Given the description of an element on the screen output the (x, y) to click on. 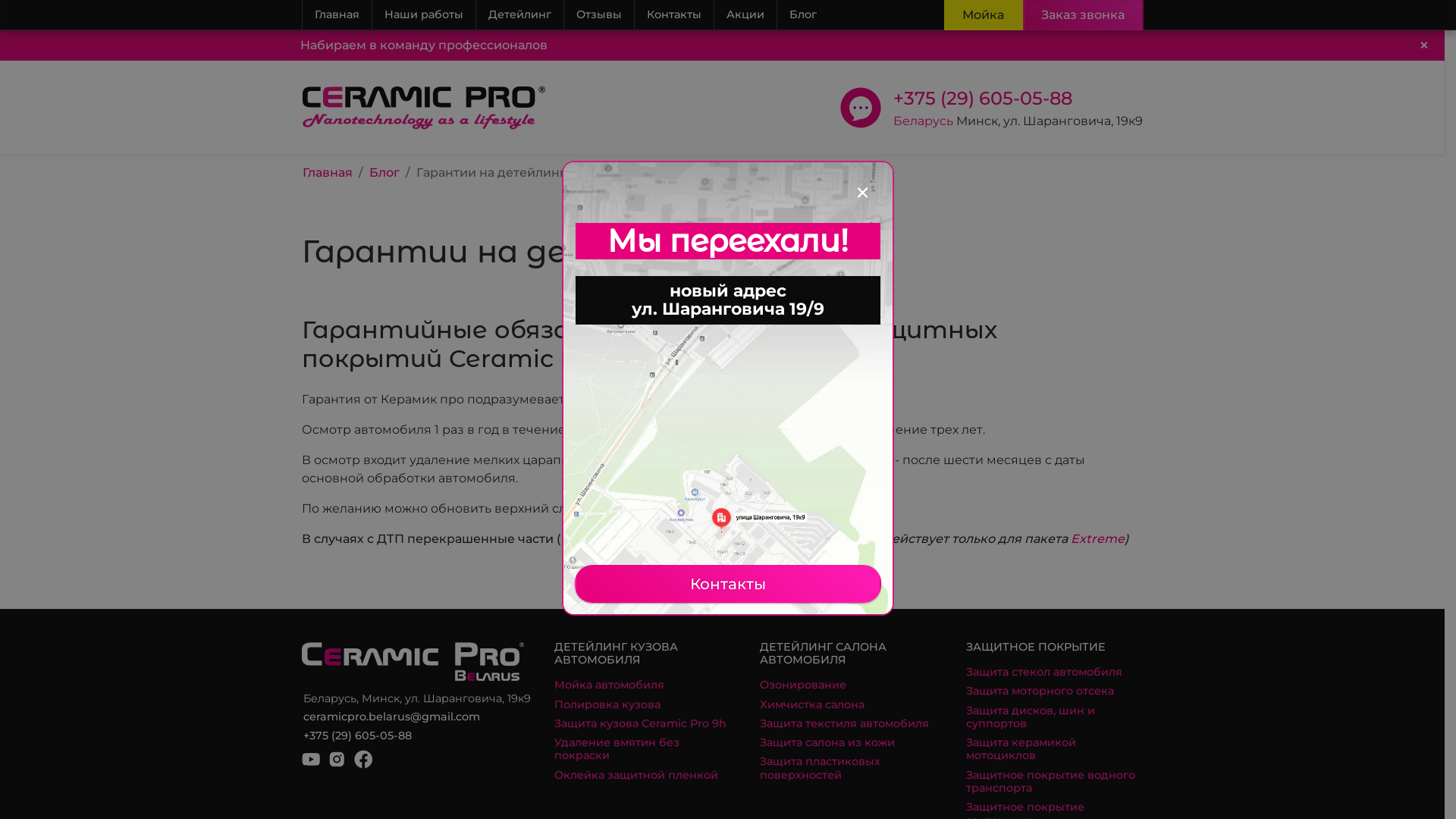
+375 (29) 605-05-88 Element type: text (982, 98)
+375 (29) 605-05-88 Element type: text (357, 735)
Extreme Element type: text (1097, 538)
ceramicpro.belarus@gmail.com Element type: text (391, 716)
